Given the description of an element on the screen output the (x, y) to click on. 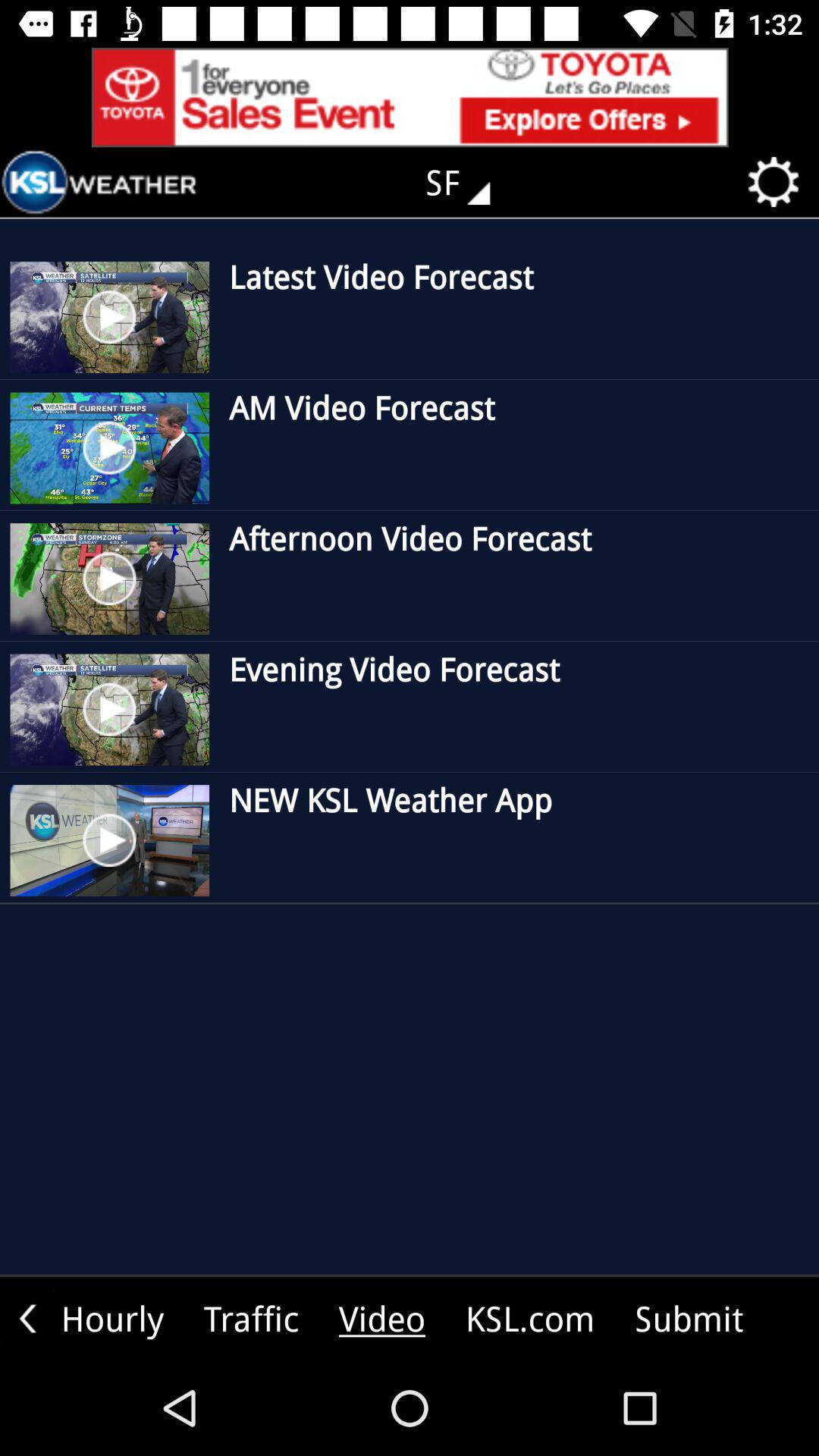
move right side icon (27, 1318)
